Given the description of an element on the screen output the (x, y) to click on. 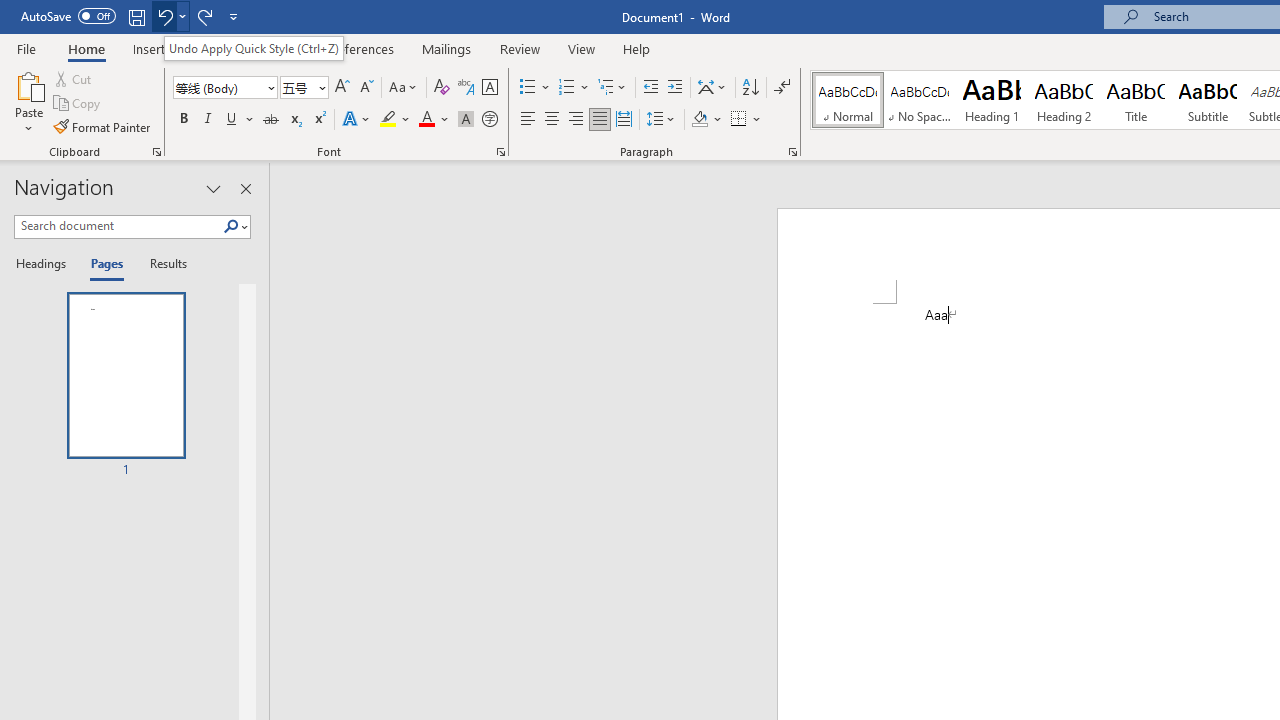
Office Clipboard... (156, 151)
Undo Apply Quick Style (164, 15)
Phonetic Guide... (465, 87)
Show/Hide Editing Marks (781, 87)
Results (161, 264)
Bold (183, 119)
Shading (706, 119)
Paragraph... (792, 151)
Decrease Indent (650, 87)
